Given the description of an element on the screen output the (x, y) to click on. 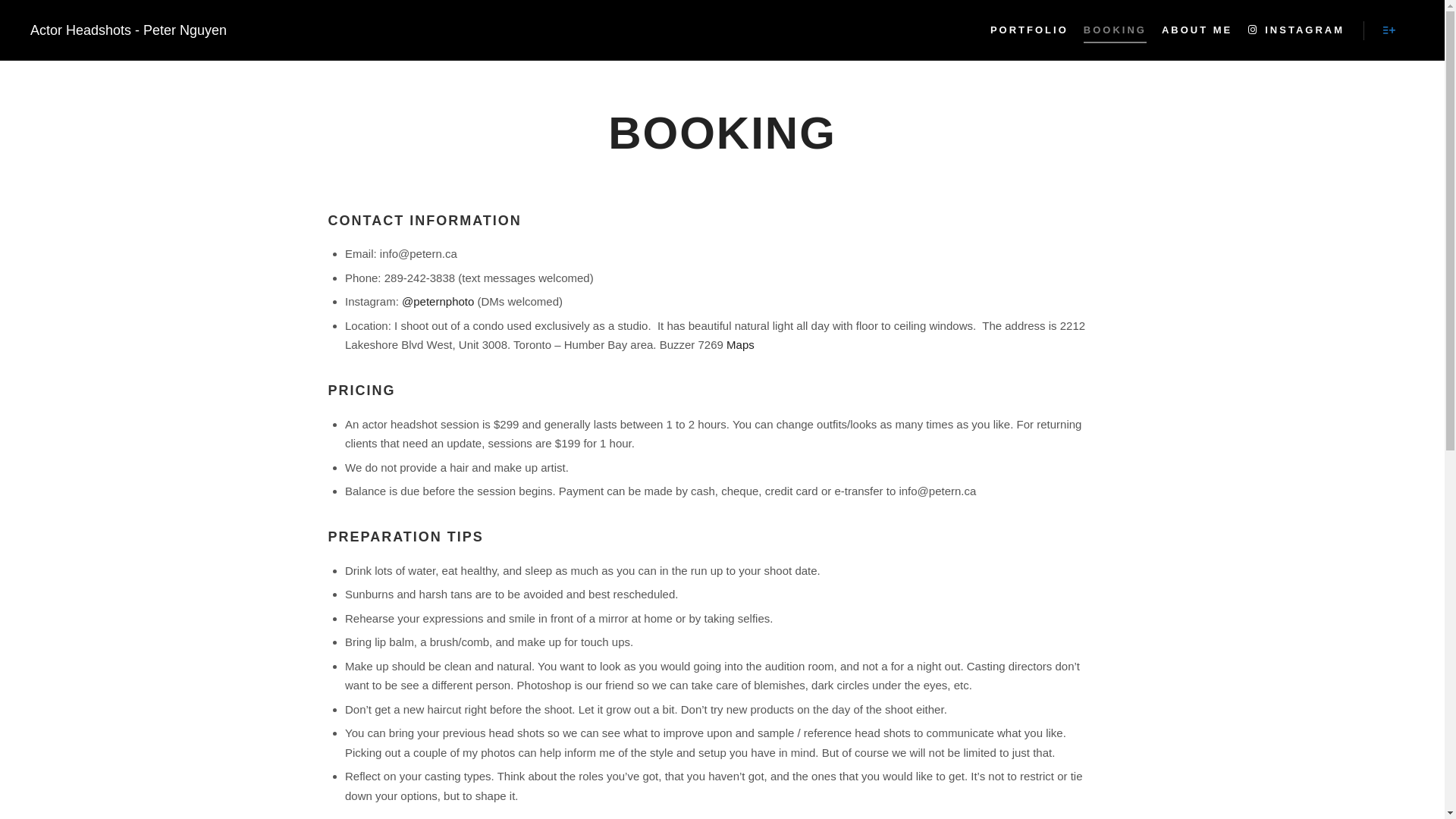
BOOKING Element type: text (1115, 30)
INSTAGRAM Element type: text (1295, 30)
@peternphoto Element type: text (437, 300)
ABOUT ME Element type: text (1196, 30)
PORTFOLIO Element type: text (1029, 30)
Maps Element type: text (740, 344)
Actor Headshots - Peter Nguyen Element type: text (106, 30)
More info Element type: text (1388, 30)
